Given the description of an element on the screen output the (x, y) to click on. 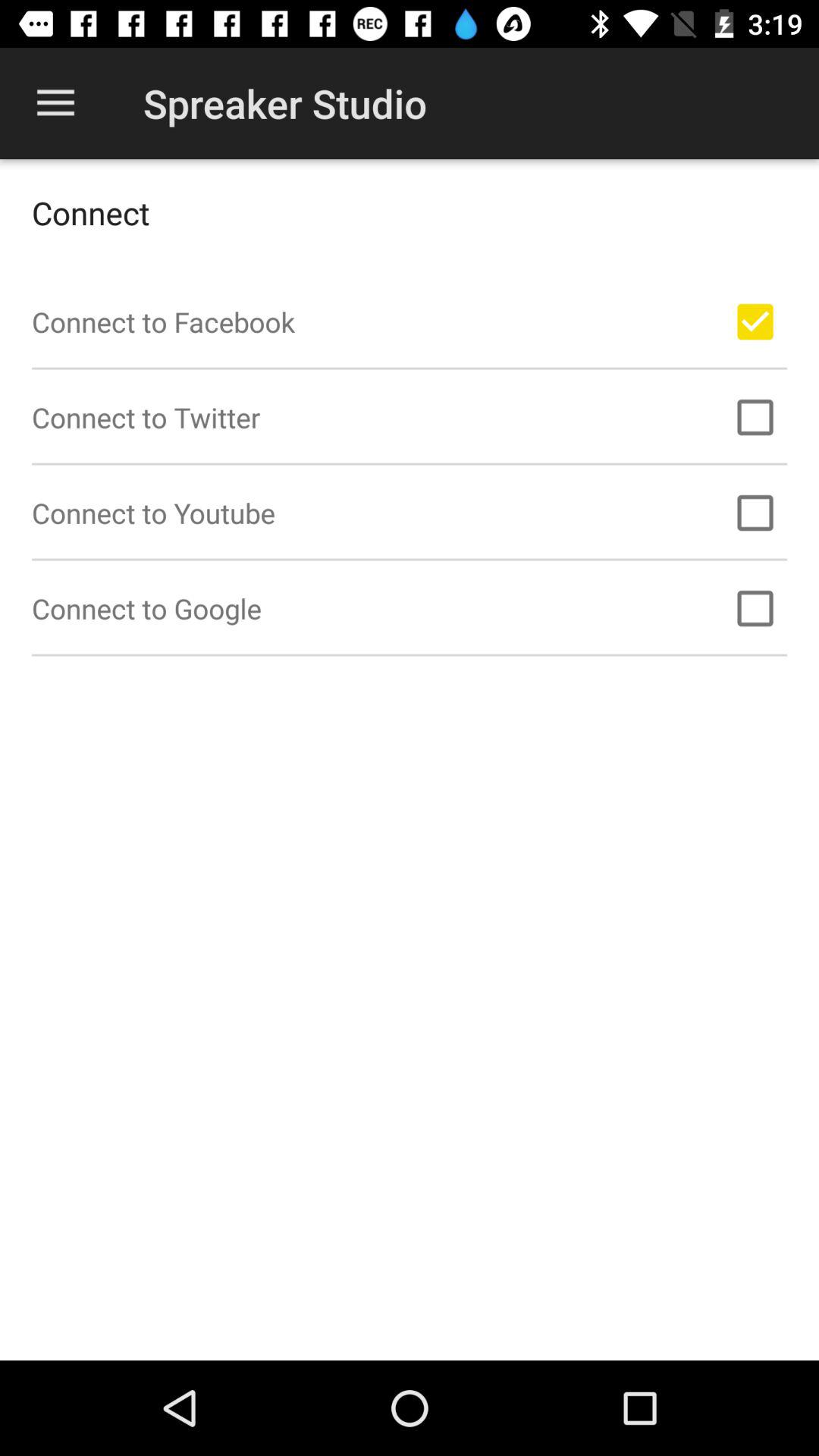
disconnect from facebook (755, 321)
